Given the description of an element on the screen output the (x, y) to click on. 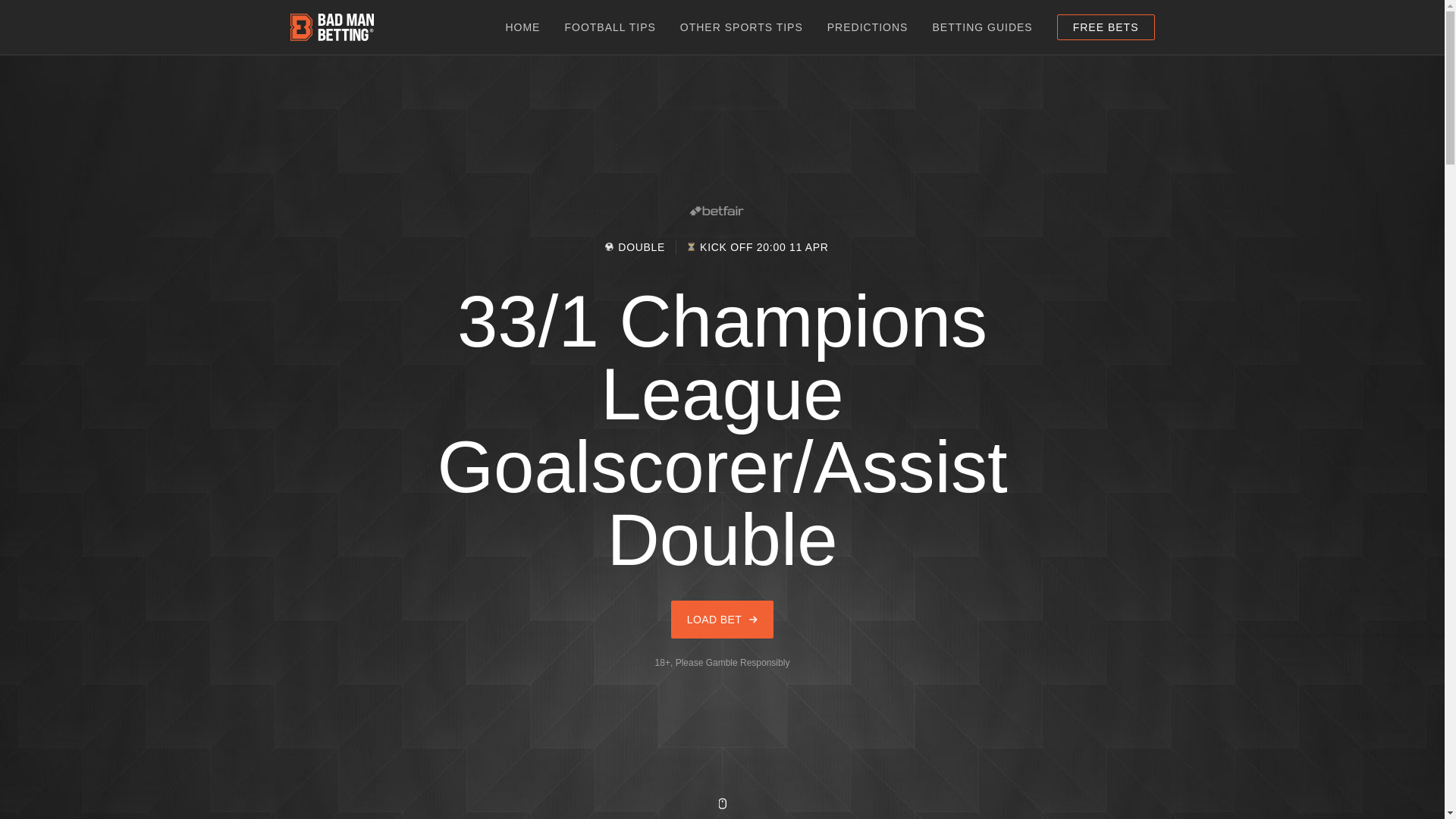
BETTING GUIDES (981, 27)
OTHER SPORTS TIPS (741, 27)
HOME (522, 27)
FOOTBALL TIPS (609, 27)
FREE BETS (1105, 27)
PREDICTIONS (867, 27)
LOAD BET (722, 619)
